Given the description of an element on the screen output the (x, y) to click on. 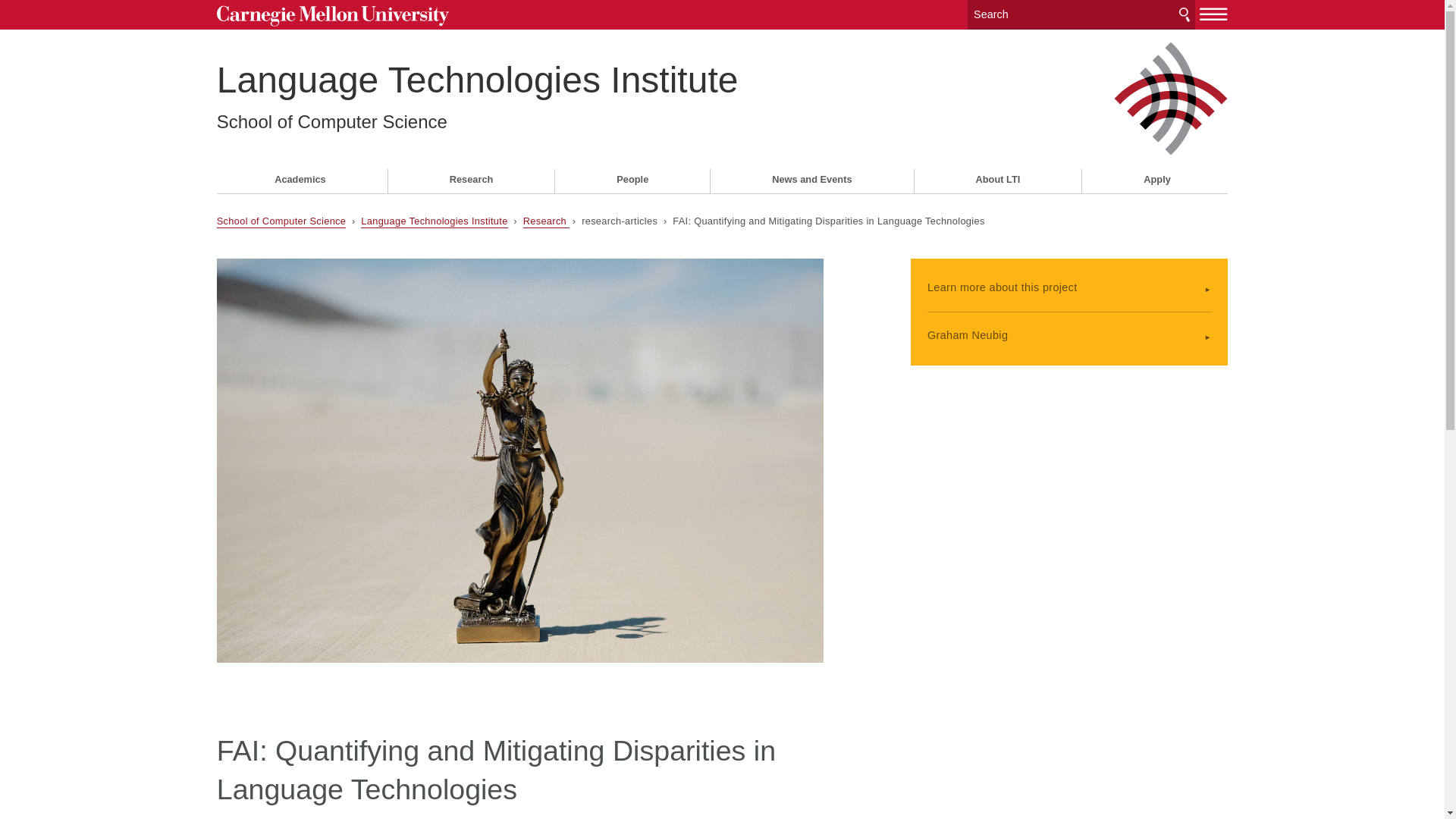
School of Computer Science (331, 121)
Graham Neubig (1069, 336)
Research (470, 178)
Language Technologies Institute (477, 79)
People (632, 178)
About LTI (997, 178)
Learn more about this project (1069, 287)
Apply (1156, 178)
Carnegie Mellon University (332, 15)
Academics (299, 178)
School of Computer Science (281, 221)
Language Technologies Institute (433, 221)
News and Events (811, 178)
Research (545, 221)
